Given the description of an element on the screen output the (x, y) to click on. 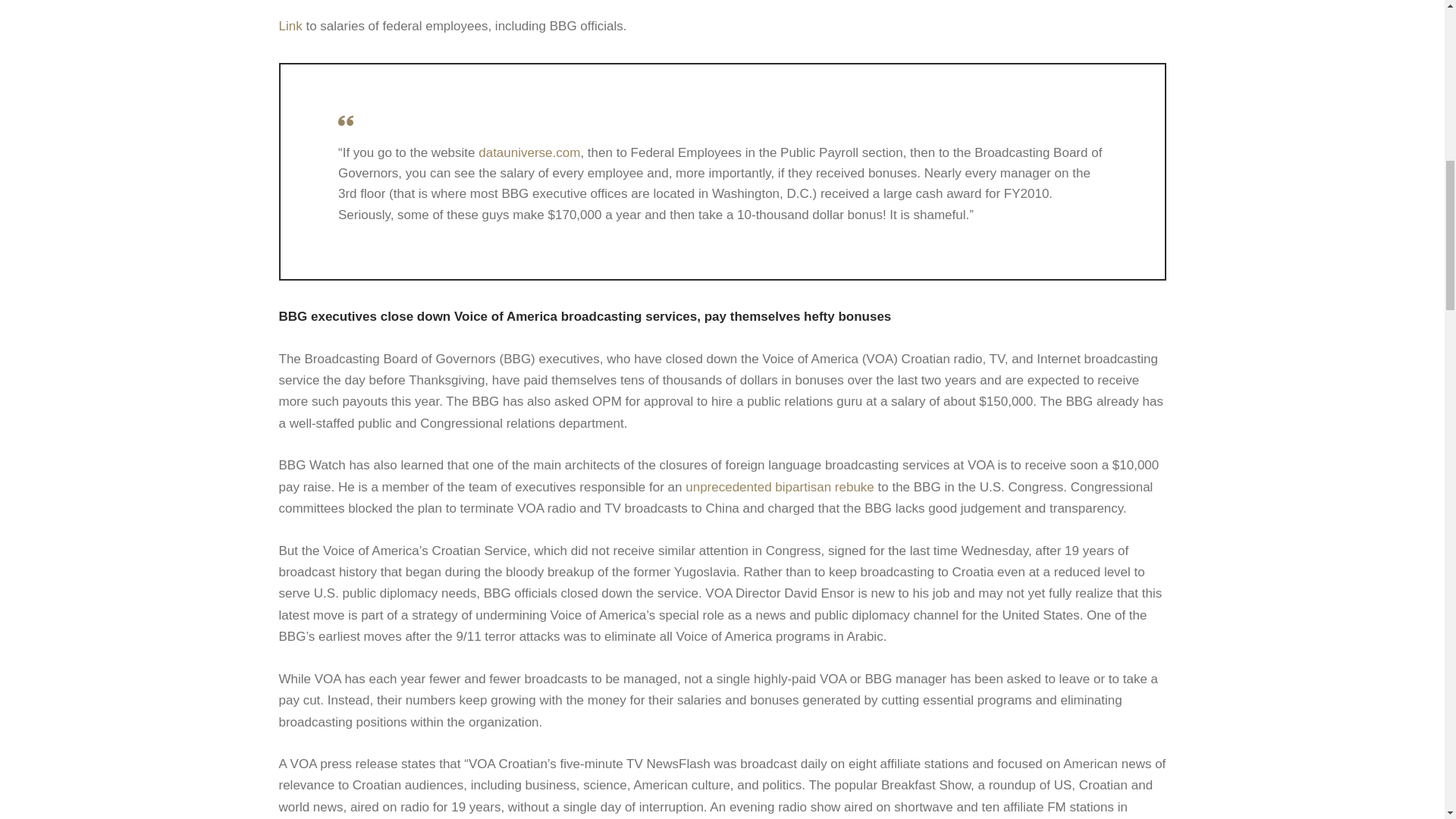
datauniverse.com (529, 152)
Link to salaries and bonuses of federal employees (290, 25)
Link (290, 25)
Data Universe (529, 152)
unprecedented bipartisan rebuke (780, 486)
